Given the description of an element on the screen output the (x, y) to click on. 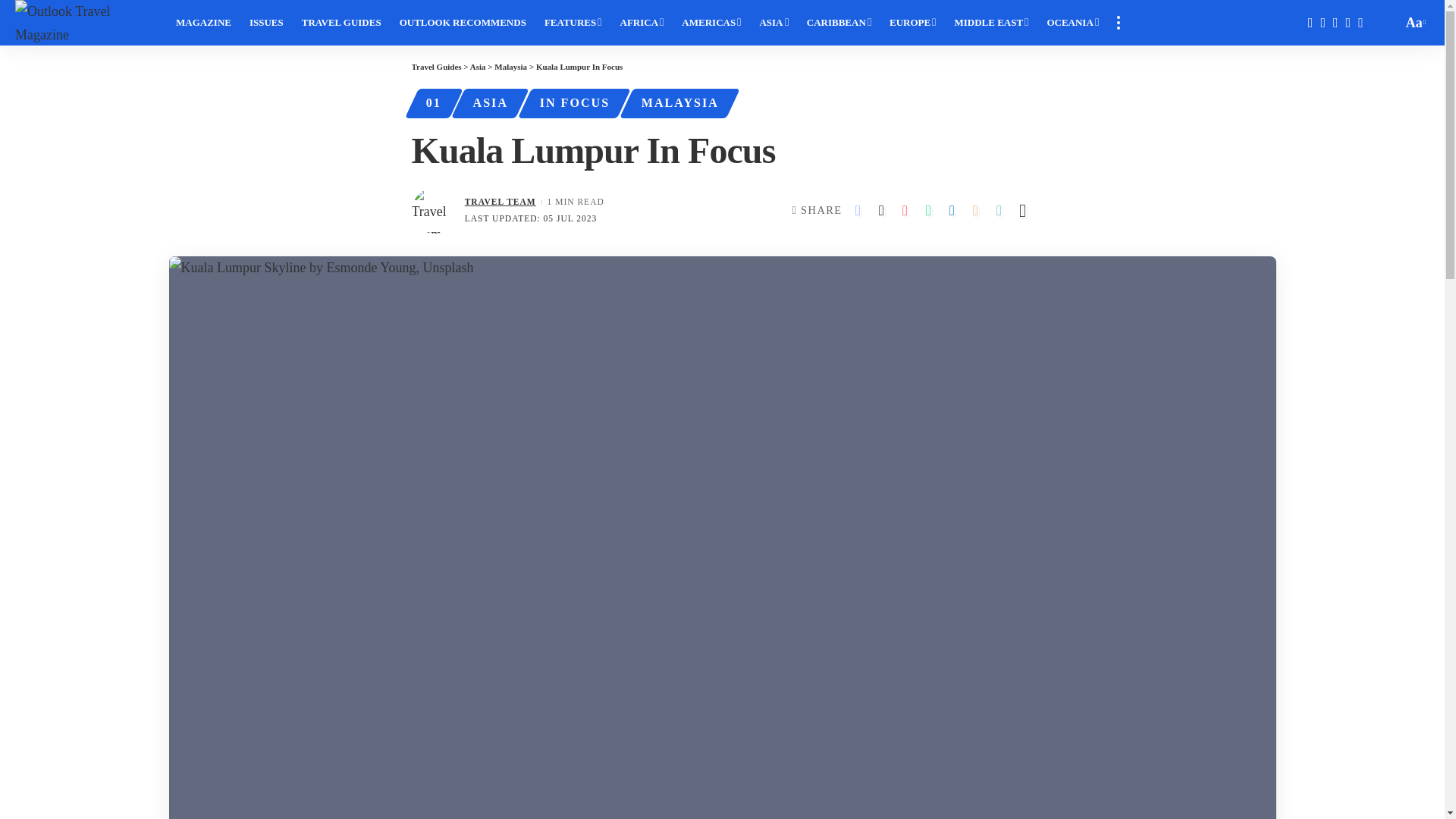
Outlook Travel Magazine (82, 22)
Go to the Malaysia Category archives. (511, 66)
AFRICA (641, 22)
MAGAZINE (203, 22)
FEATURES (573, 22)
AMERICAS (710, 22)
Go to the Asia Category archives. (478, 66)
ISSUES (266, 22)
TRAVEL GUIDES (341, 22)
OUTLOOK RECOMMENDS (462, 22)
